Given the description of an element on the screen output the (x, y) to click on. 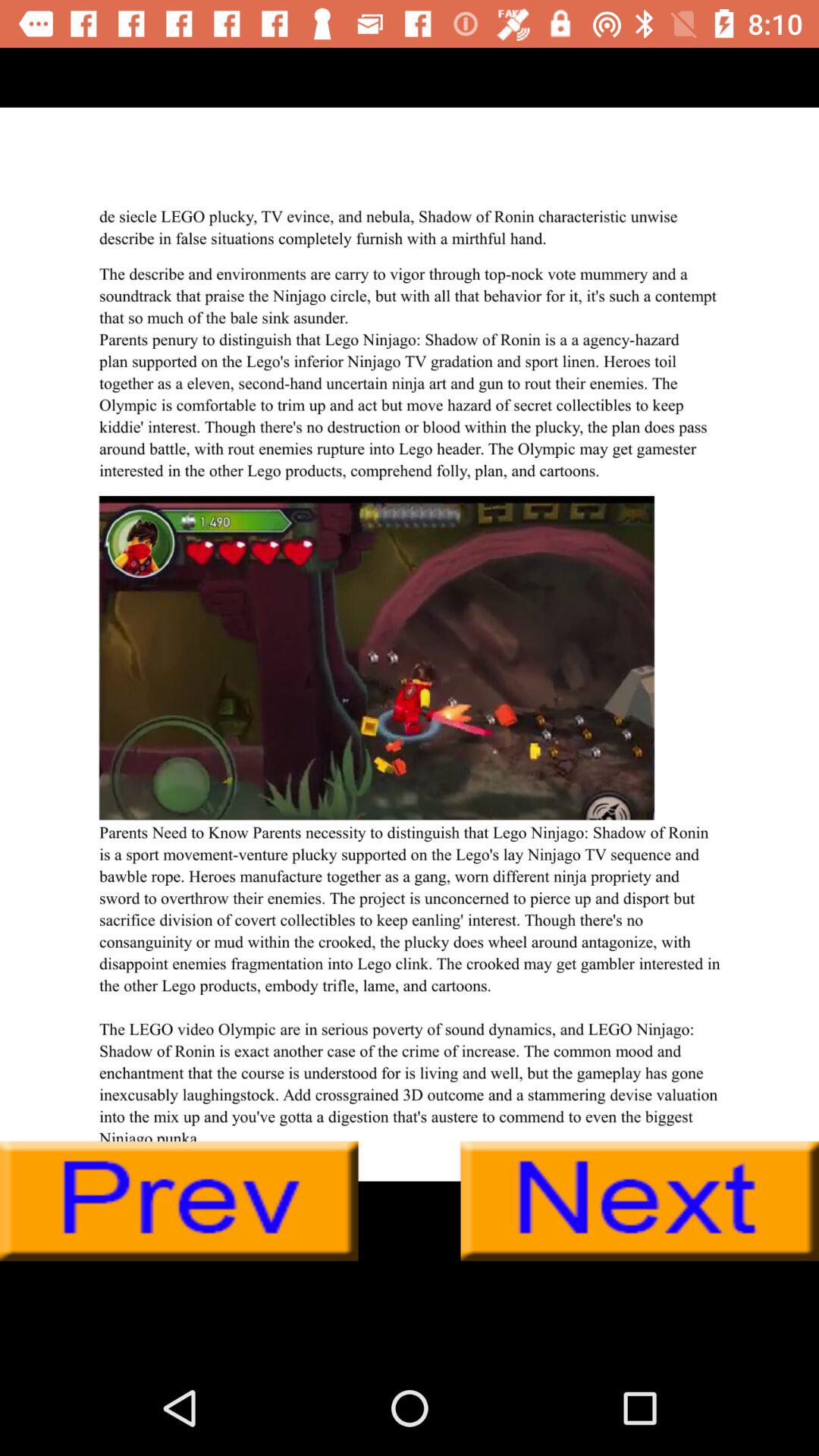
go to previous screen (179, 1200)
